Given the description of an element on the screen output the (x, y) to click on. 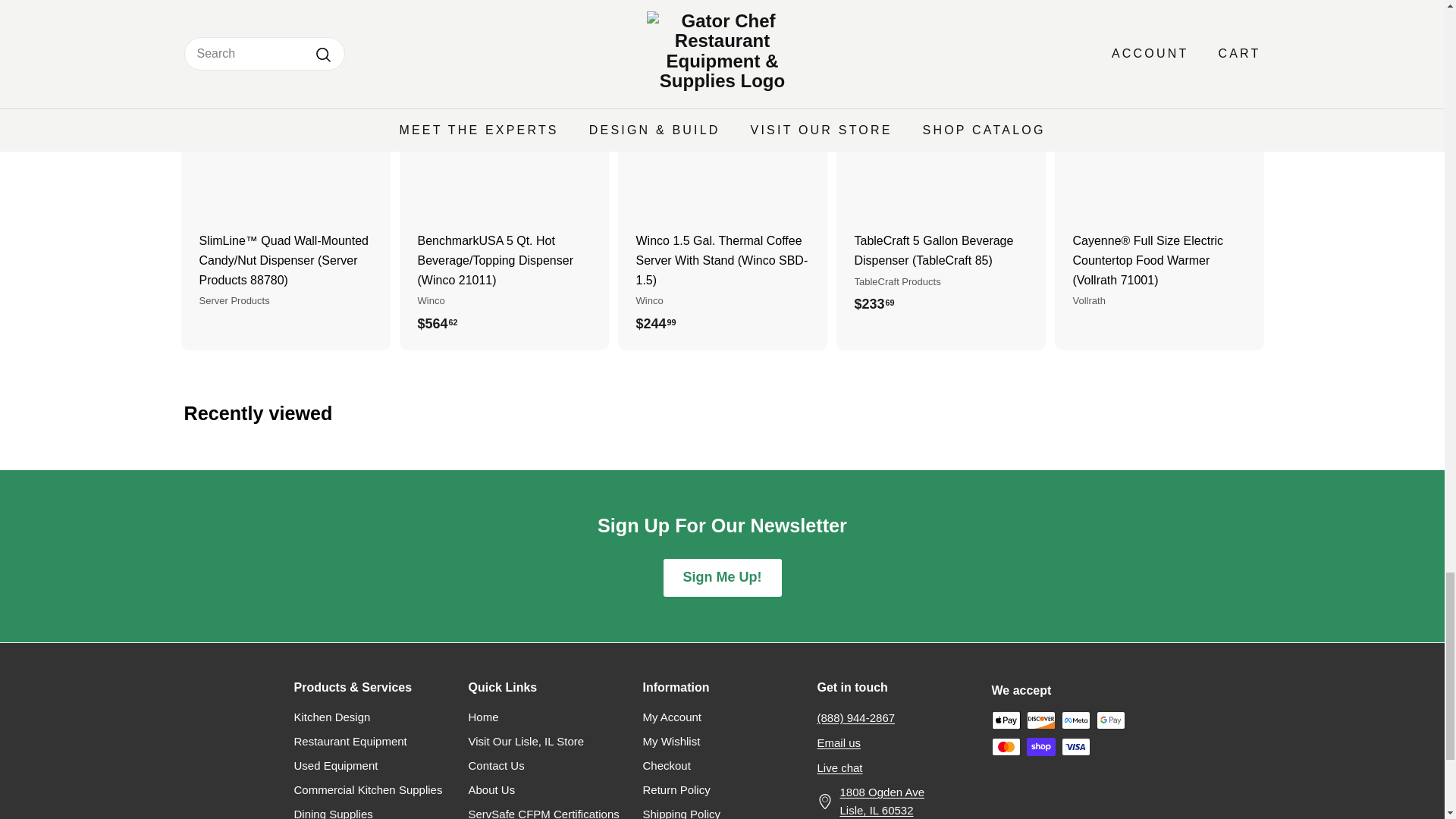
Google Pay (1110, 720)
Discover (1040, 720)
Visa (1075, 746)
Apple Pay (1005, 720)
Mastercard (1005, 746)
Meta Pay (1075, 720)
Shop Pay (1040, 746)
